Given the description of an element on the screen output the (x, y) to click on. 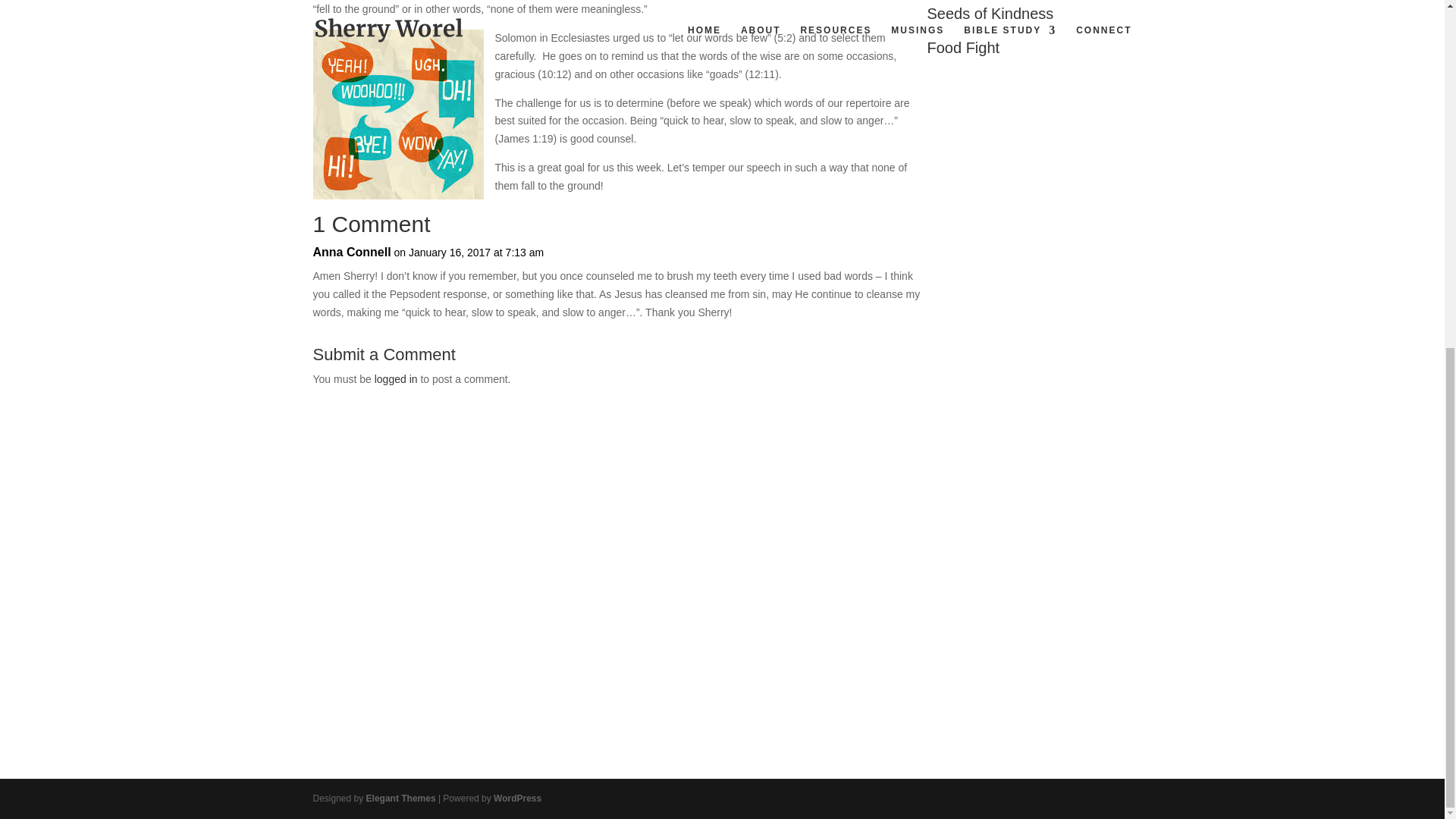
Seeds of Kindness (989, 13)
logged in (395, 378)
Elegant Themes (400, 798)
Food Fight (962, 47)
Premium WordPress Themes (400, 798)
